Given the description of an element on the screen output the (x, y) to click on. 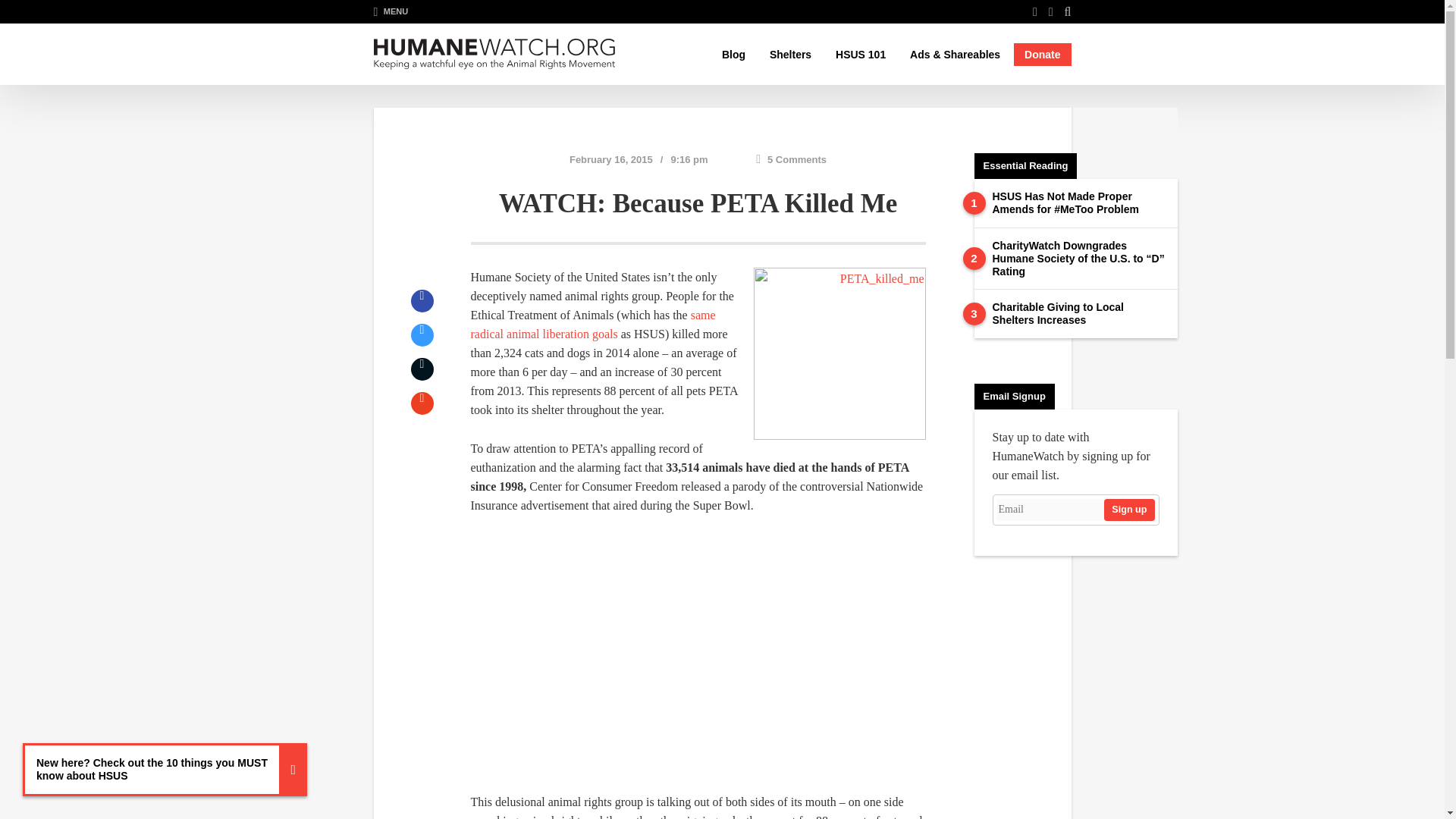
Sign up (1128, 509)
Shelters (790, 54)
same radical animal liberation goals (592, 324)
5 Comments (791, 159)
HSUS 101 (860, 54)
MENU (389, 11)
Donate (1041, 54)
Blog (733, 54)
